Given the description of an element on the screen output the (x, y) to click on. 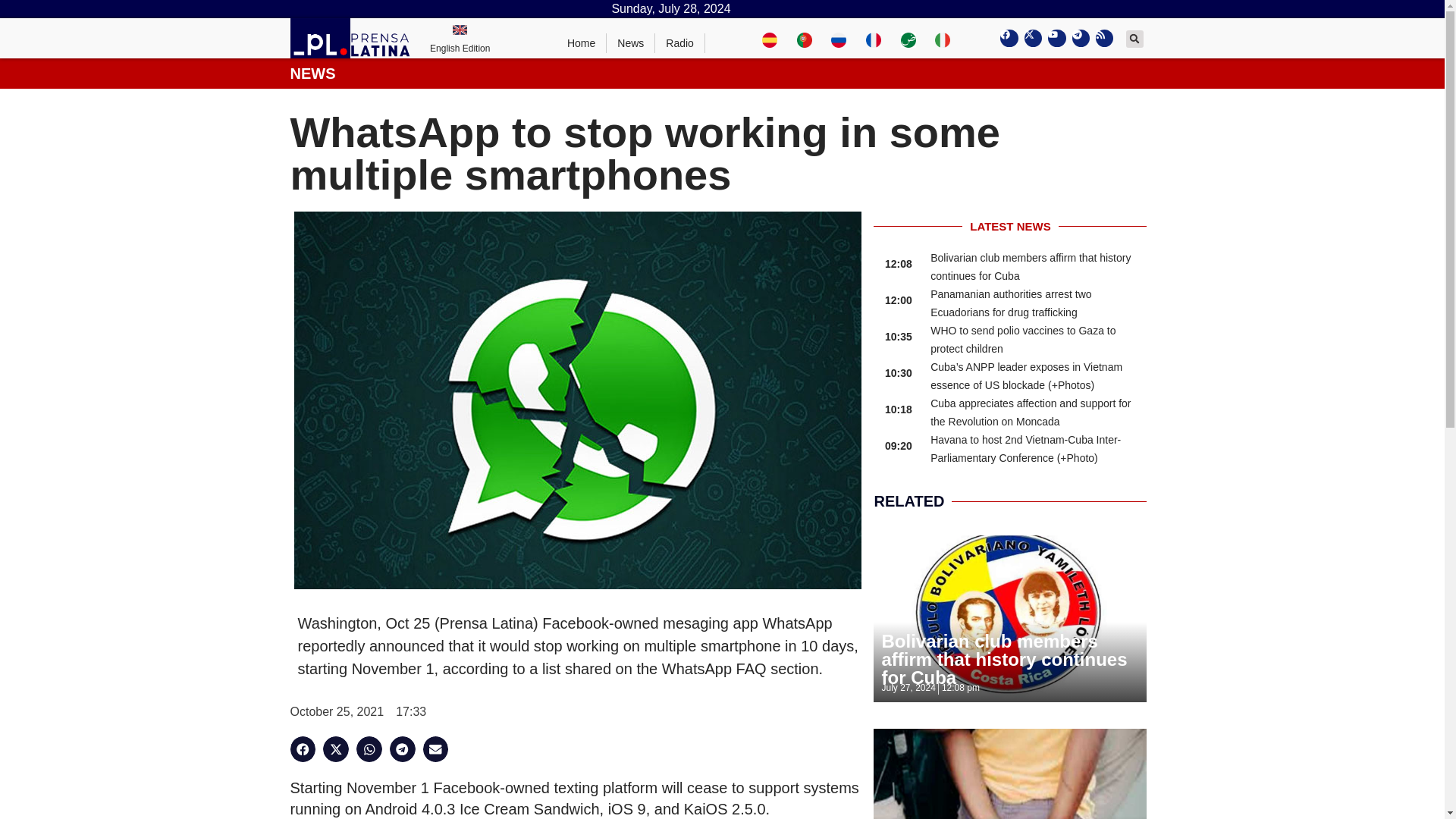
italia (942, 38)
Arabic lang (908, 38)
Home (581, 43)
WHO to send polio vaccines to Gaza to protect children (1022, 339)
francia (873, 38)
October 25, 2021 (336, 711)
portugues (804, 38)
July 27, 2024 (907, 687)
News (631, 43)
rusia (838, 38)
Radio (679, 43)
